Given the description of an element on the screen output the (x, y) to click on. 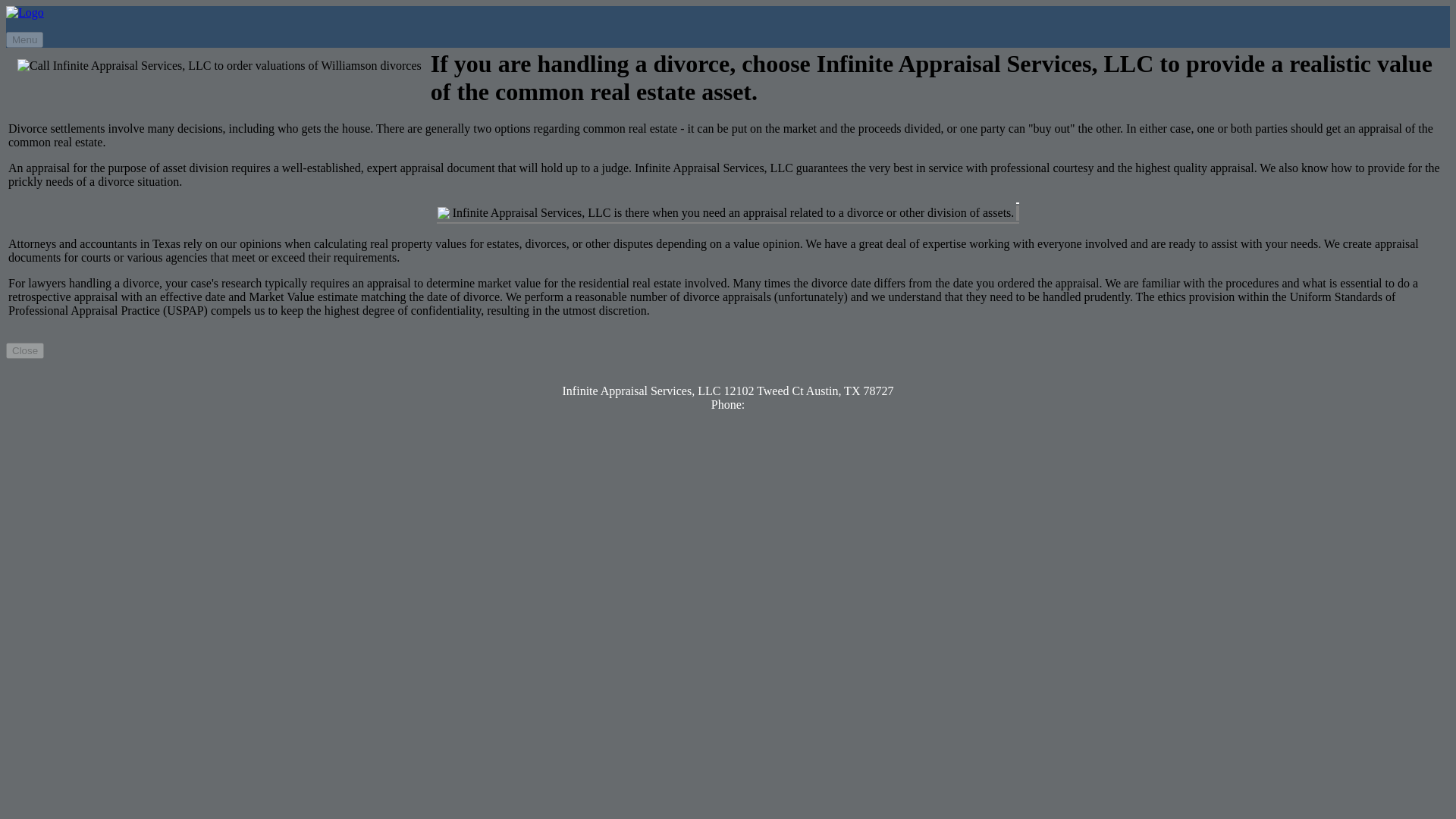
Close (24, 350)
Menu (24, 39)
